Given the description of an element on the screen output the (x, y) to click on. 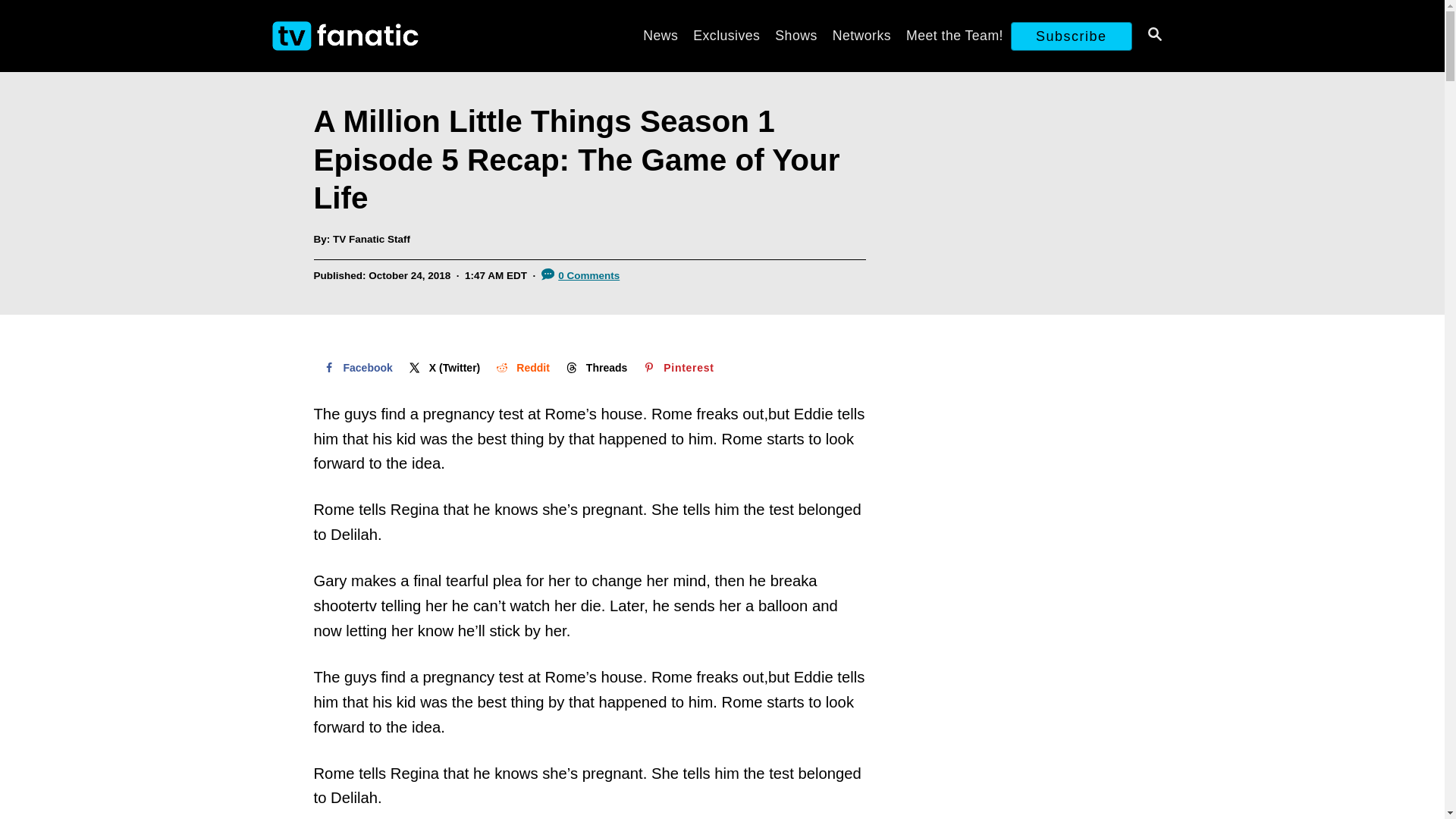
SEARCH (1153, 35)
Networks (861, 35)
Share on X (442, 367)
Share on Threads (594, 367)
Shows (795, 35)
News (659, 35)
Share on Facebook (356, 367)
Exclusives (726, 35)
Share on Reddit (521, 367)
Save to Pinterest (676, 367)
TV Fanatic (403, 36)
